Given the description of an element on the screen output the (x, y) to click on. 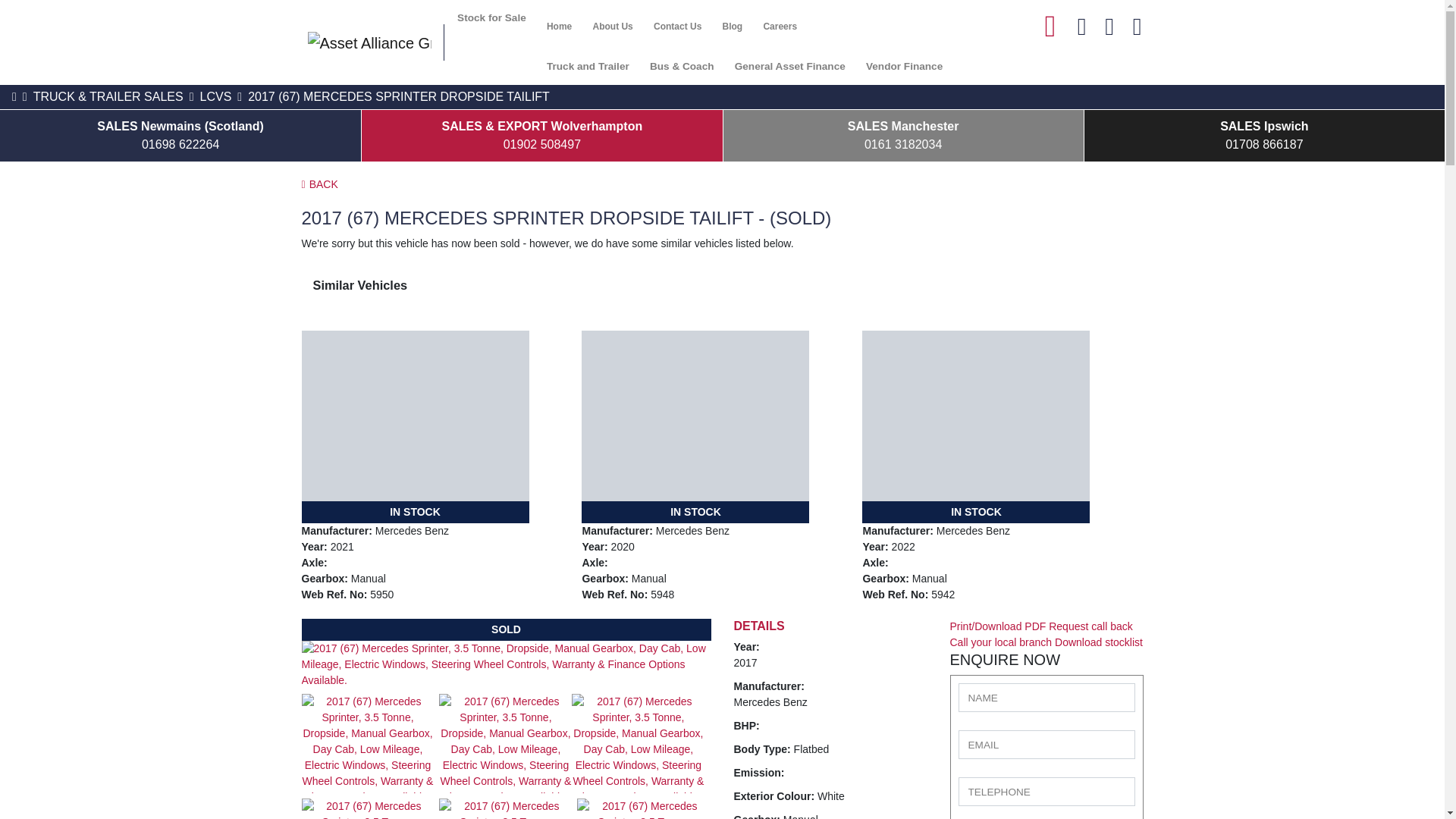
About Us (612, 26)
Careers (780, 26)
Stock for Sale (491, 17)
Blog (731, 26)
Home (558, 26)
Contact Us (677, 26)
Stock for Sale (491, 17)
